Given the description of an element on the screen output the (x, y) to click on. 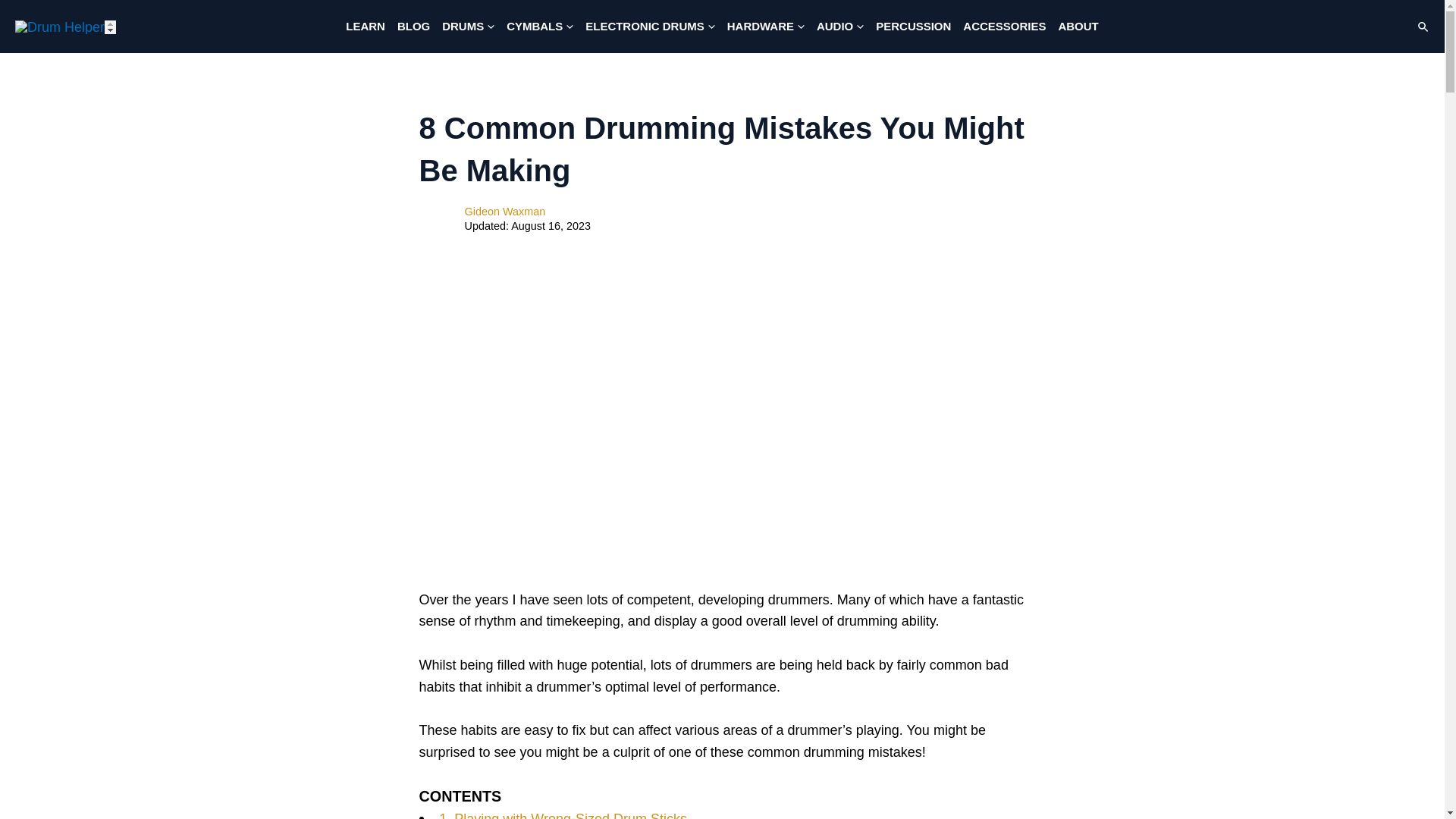
LEARN (365, 26)
CYMBALS (539, 26)
DRUMS (467, 26)
ELECTRONIC DRUMS (649, 26)
BLOG (413, 26)
HARDWARE (765, 26)
